Given the description of an element on the screen output the (x, y) to click on. 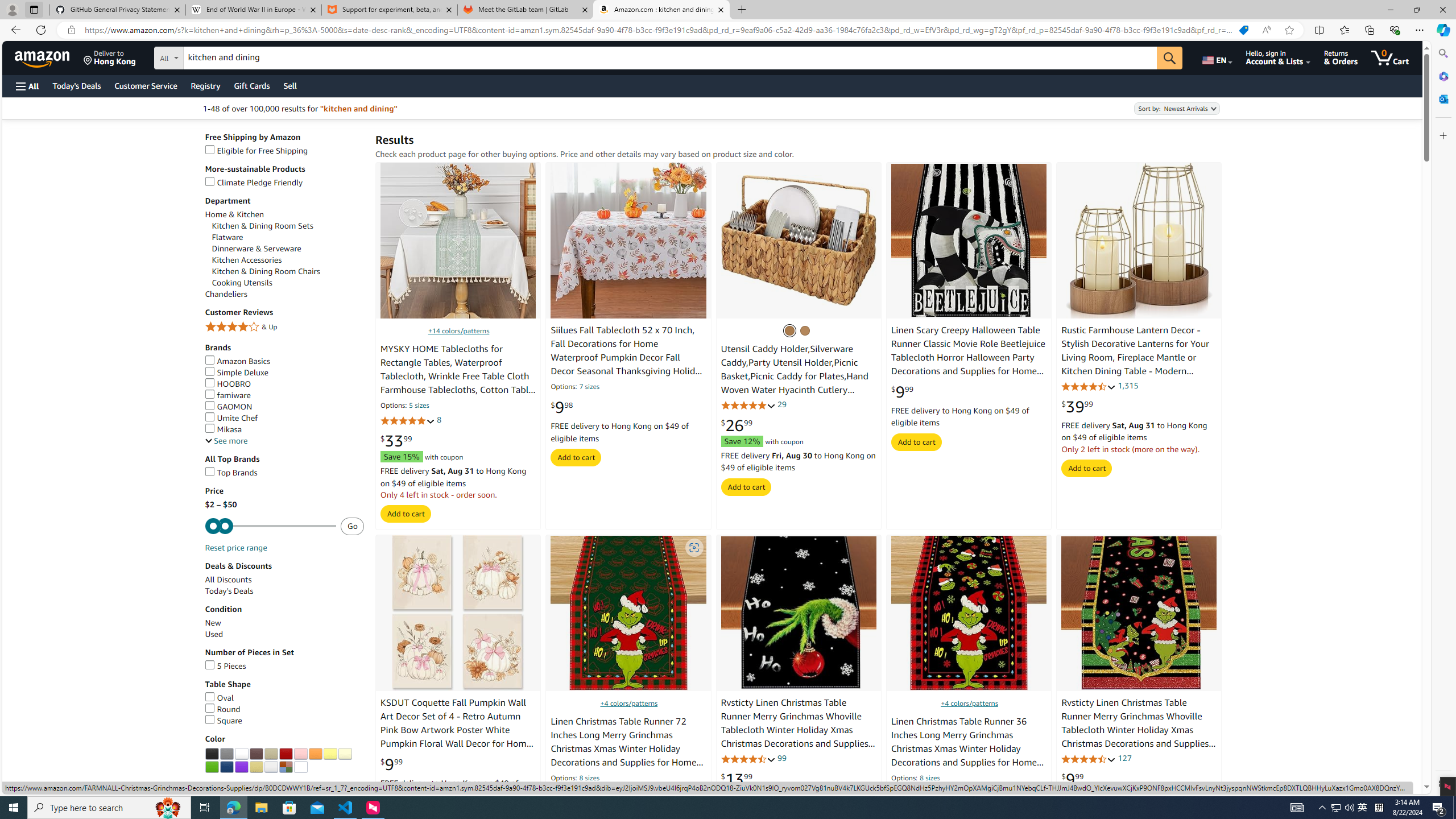
Climate Pledge Friendly (253, 182)
Search Amazon (670, 57)
AutomationID: p_n_feature_twenty_browse-bin/3254098011 (211, 753)
Clear (300, 766)
All Discounts (228, 579)
Blue (226, 766)
GitHub General Privacy Statement - GitHub Docs (117, 9)
New (284, 623)
Pink (300, 753)
4 Stars & Up (284, 327)
